Given the description of an element on the screen output the (x, y) to click on. 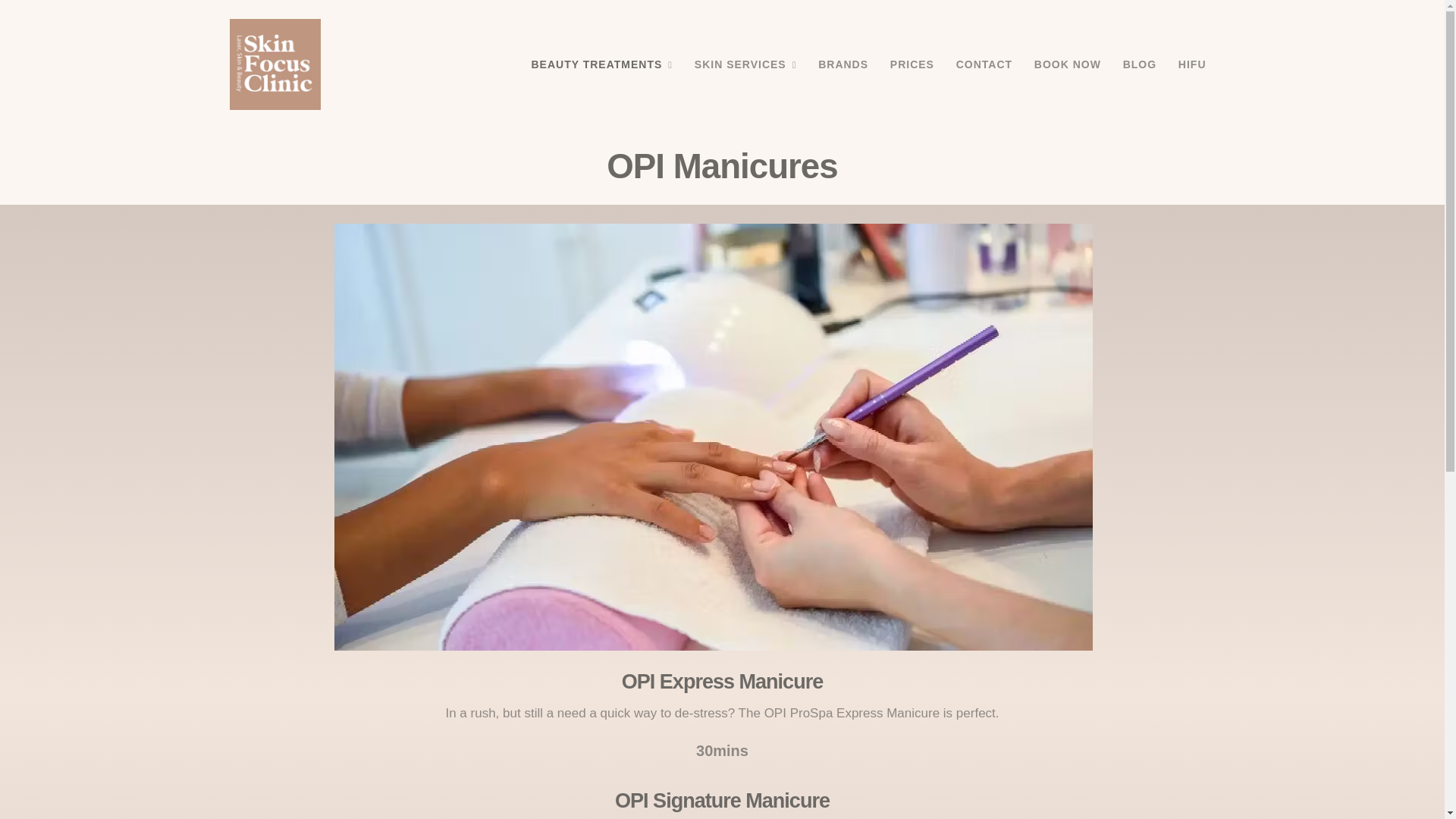
HIFU (1192, 64)
BOOK NOW (1067, 64)
CONTACT (984, 64)
BRANDS (843, 64)
PRICES (911, 64)
BLOG (1139, 64)
